Given the description of an element on the screen output the (x, y) to click on. 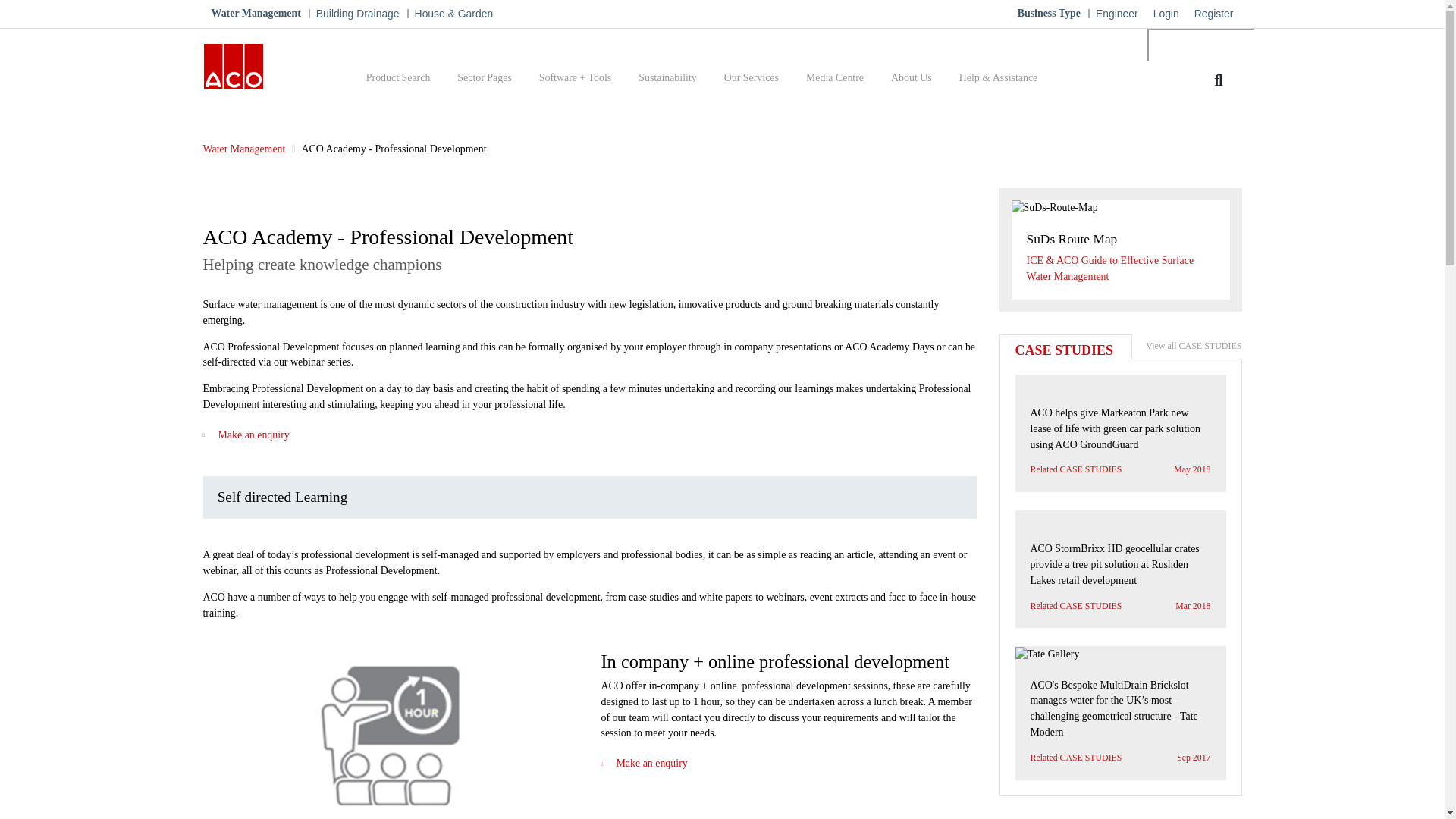
Building Drainage (357, 13)
Business Type (1048, 13)
Product Search (397, 78)
Basket (1262, 86)
Login (1165, 13)
Register (1213, 13)
Engineer (1116, 13)
Water Management (255, 13)
